Given the description of an element on the screen output the (x, y) to click on. 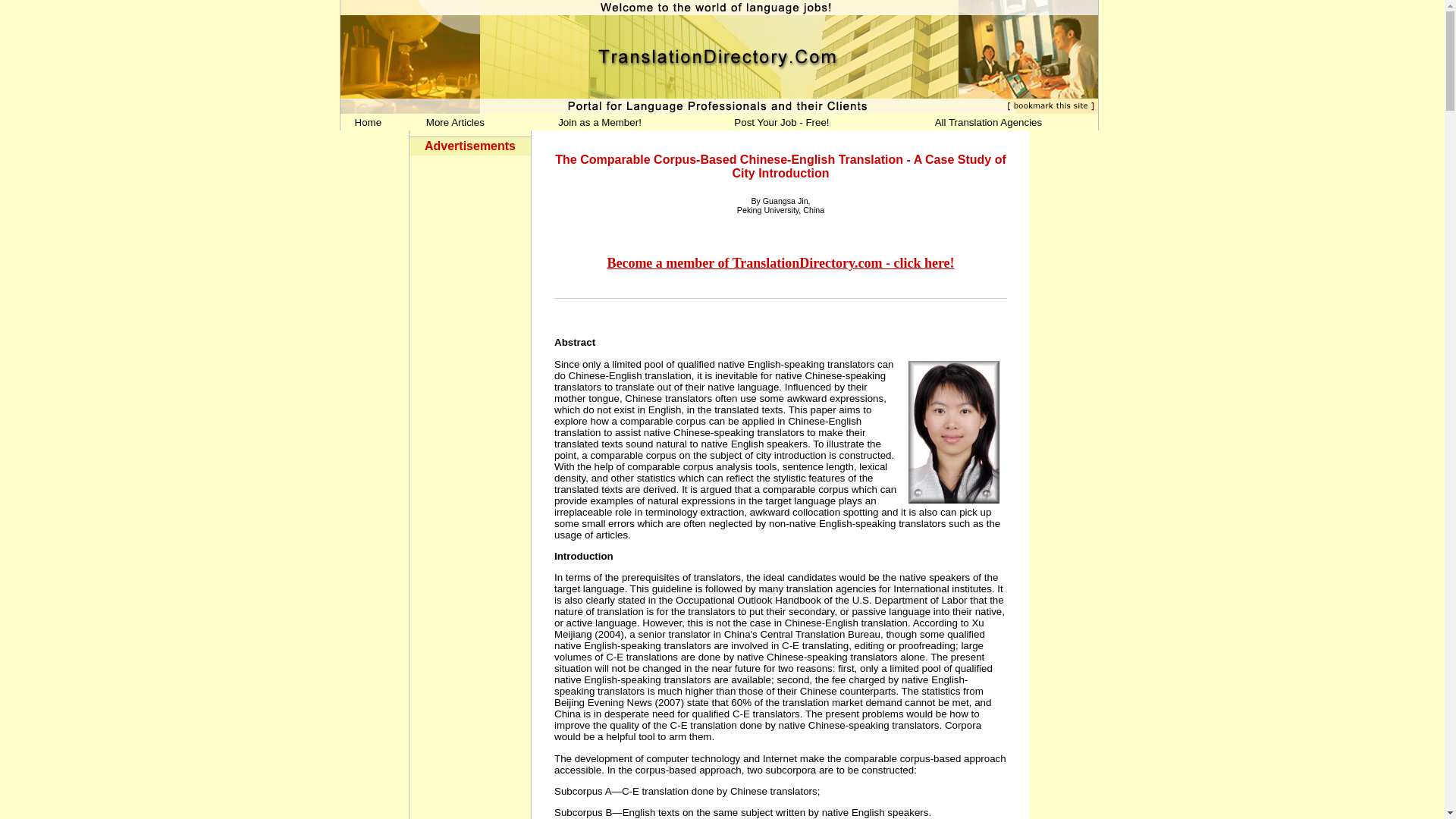
More Articles (455, 122)
Home (368, 122)
Post Your Job - Free! (780, 122)
Become a member of TranslationDirectory.com - click here! (780, 264)
All Translation Agencies (988, 122)
Join as a Member! (599, 122)
